Given the description of an element on the screen output the (x, y) to click on. 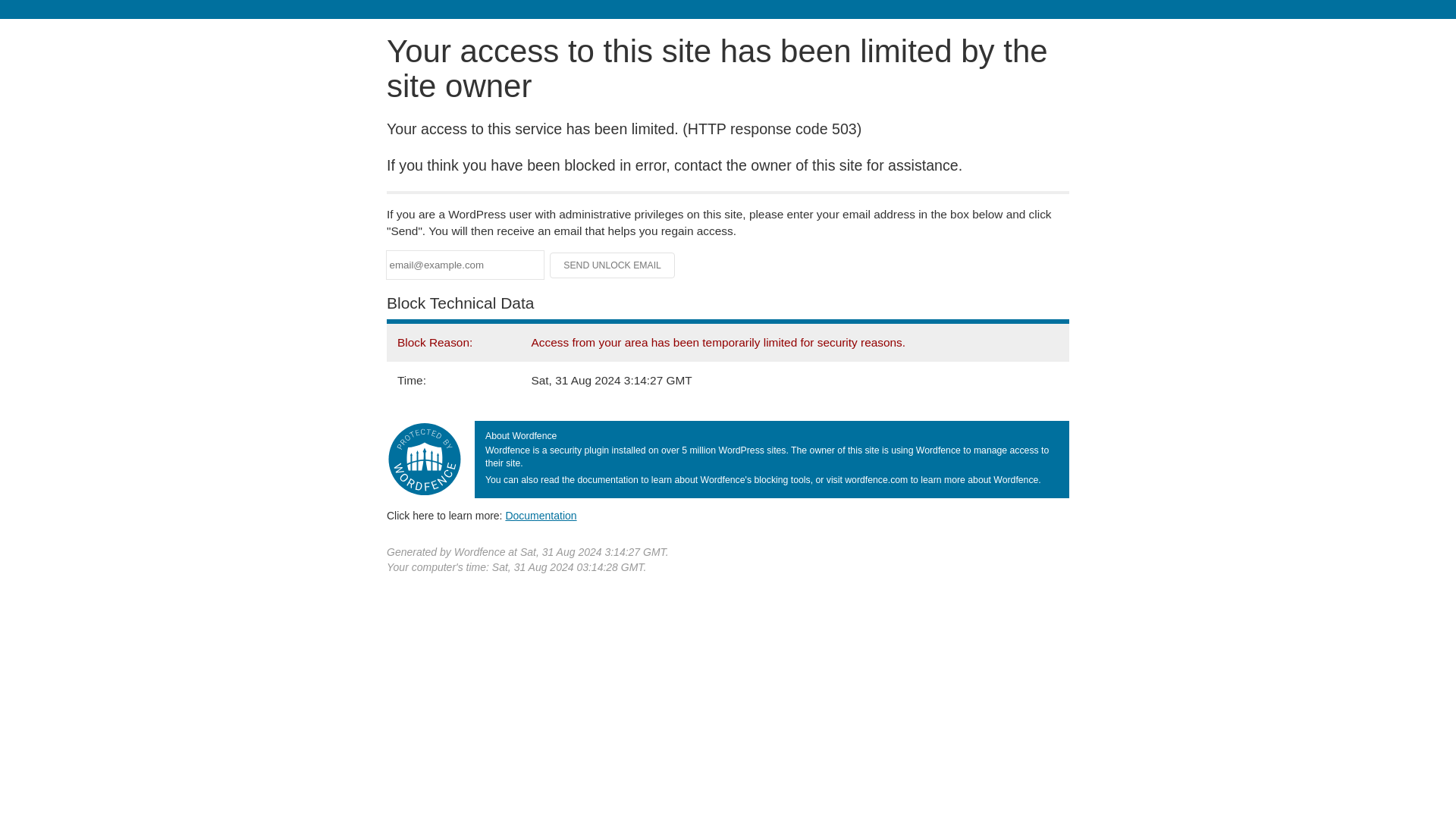
Send Unlock Email (612, 265)
Documentation (540, 515)
Send Unlock Email (612, 265)
